Given the description of an element on the screen output the (x, y) to click on. 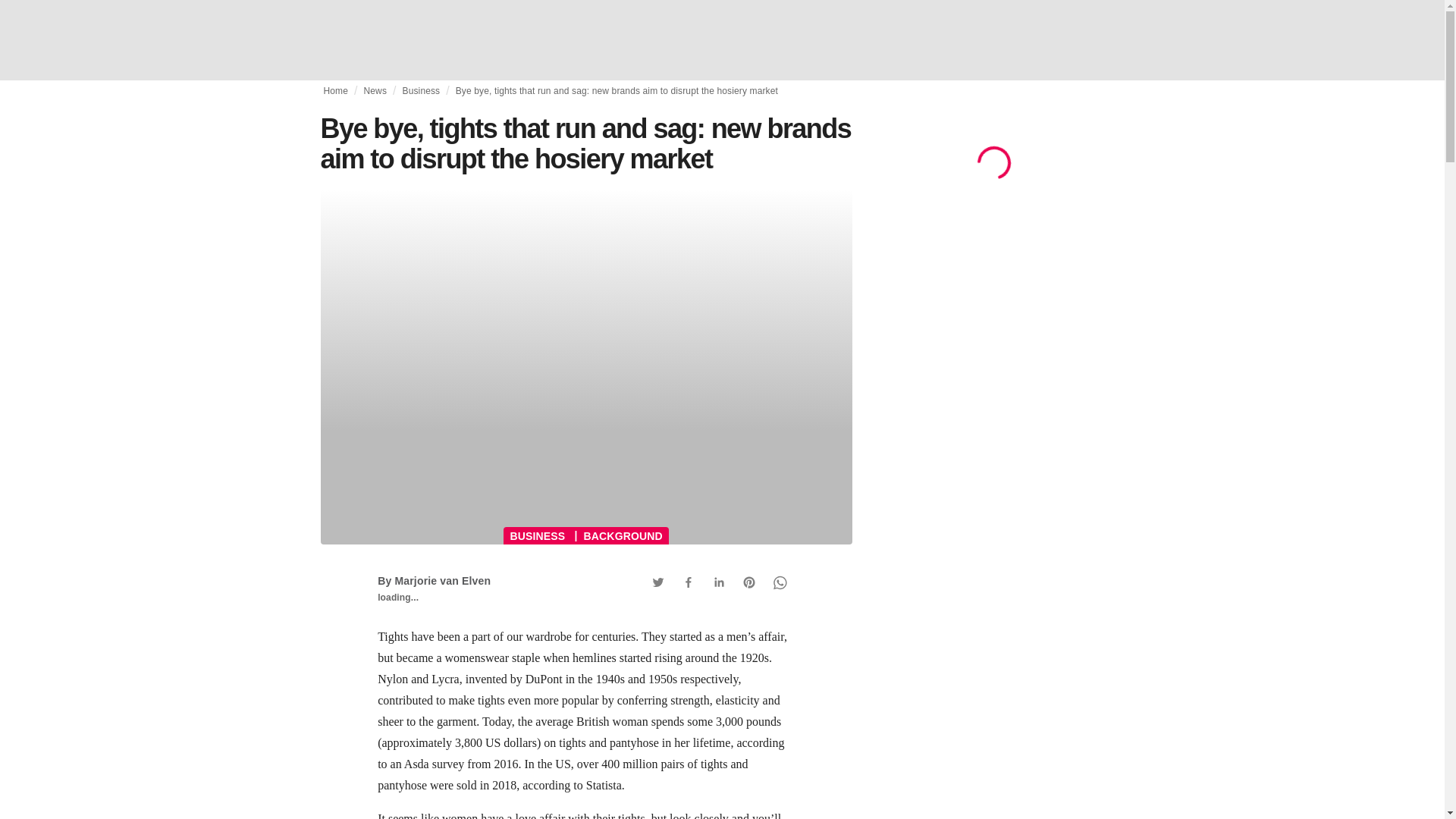
Home (335, 90)
By Marjorie van Elven (433, 580)
Business (420, 90)
News (375, 90)
